Given the description of an element on the screen output the (x, y) to click on. 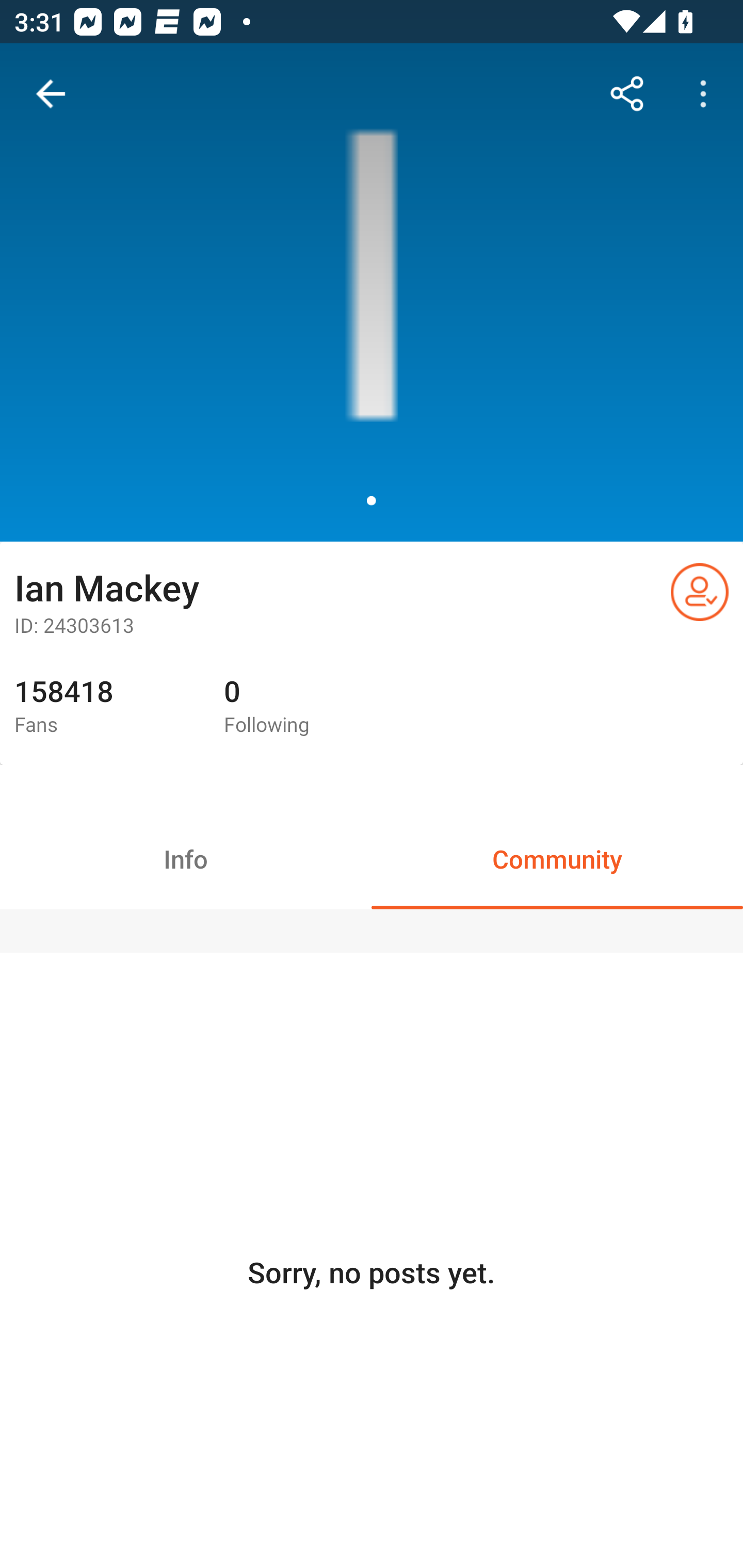
Navigate up (50, 93)
Share (626, 93)
More options (706, 93)
158418 Fans (104, 707)
0 Following (313, 707)
Info (185, 858)
Community (557, 858)
